Given the description of an element on the screen output the (x, y) to click on. 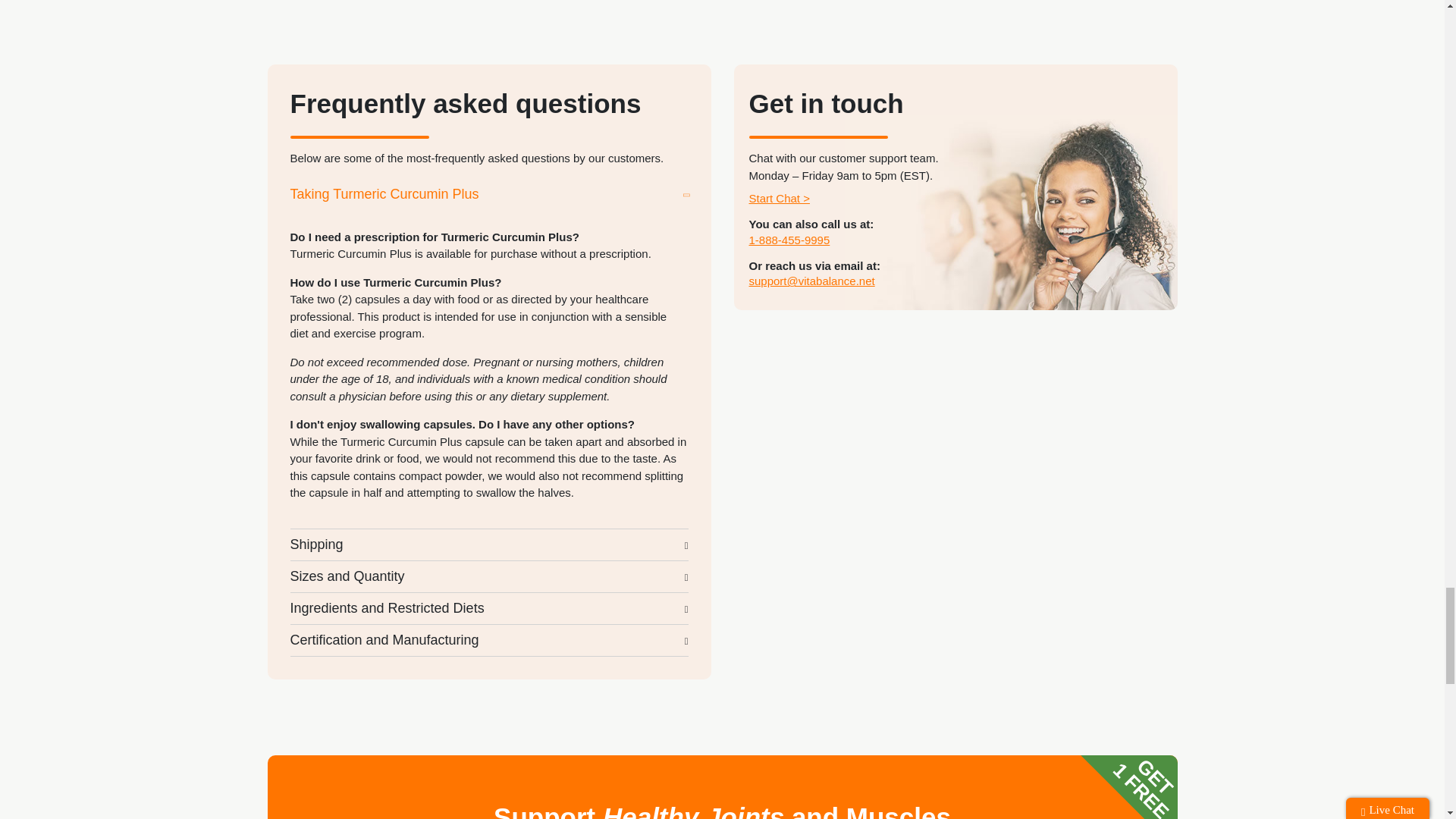
1-888-455-9995 (789, 239)
